Given the description of an element on the screen output the (x, y) to click on. 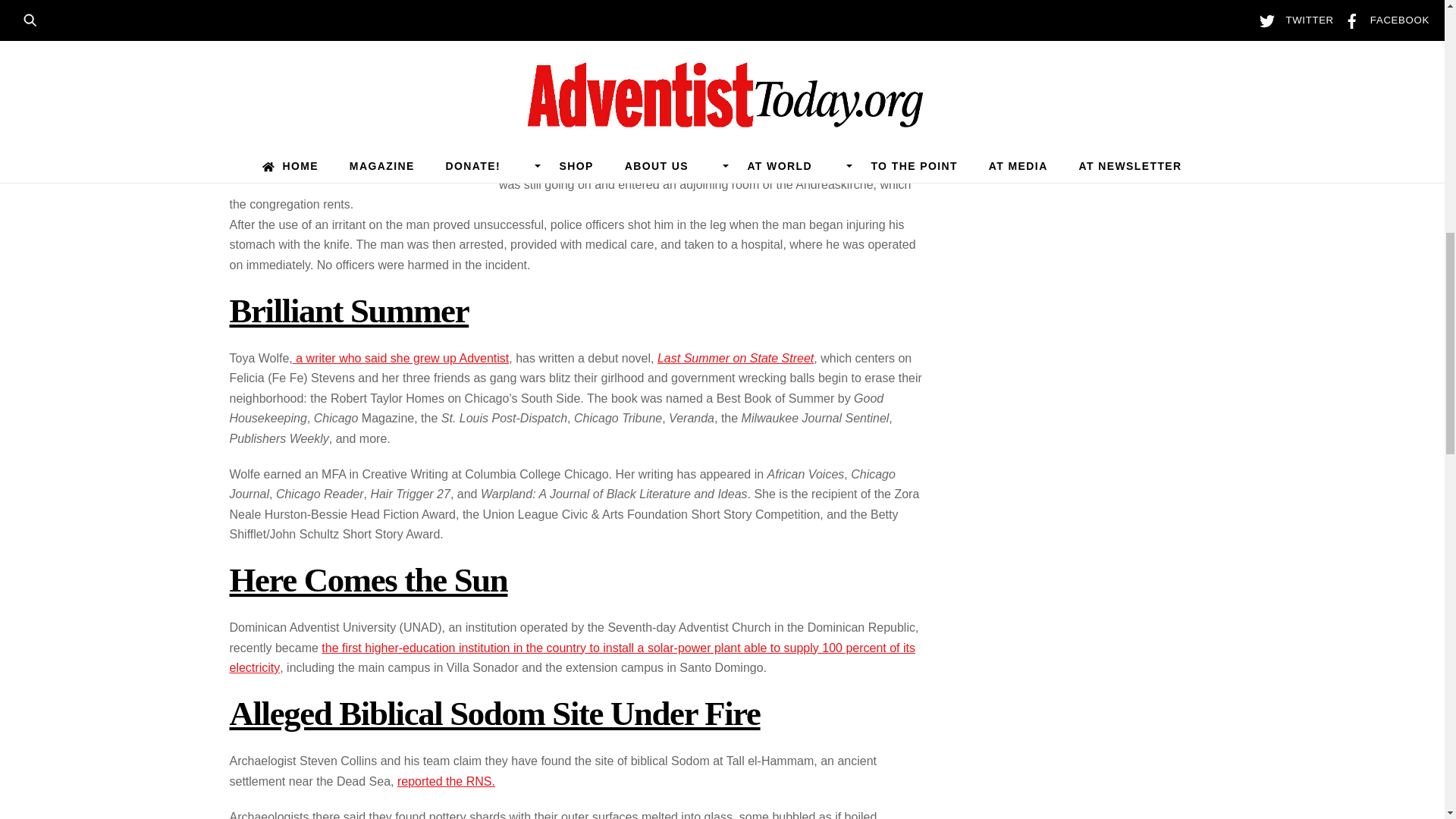
Will you give a donation to Adventist Today? (333, 134)
reported Blick. (645, 68)
Last Summer on State Street (735, 358)
a writer who said she grew up Adventist (400, 358)
